Given the description of an element on the screen output the (x, y) to click on. 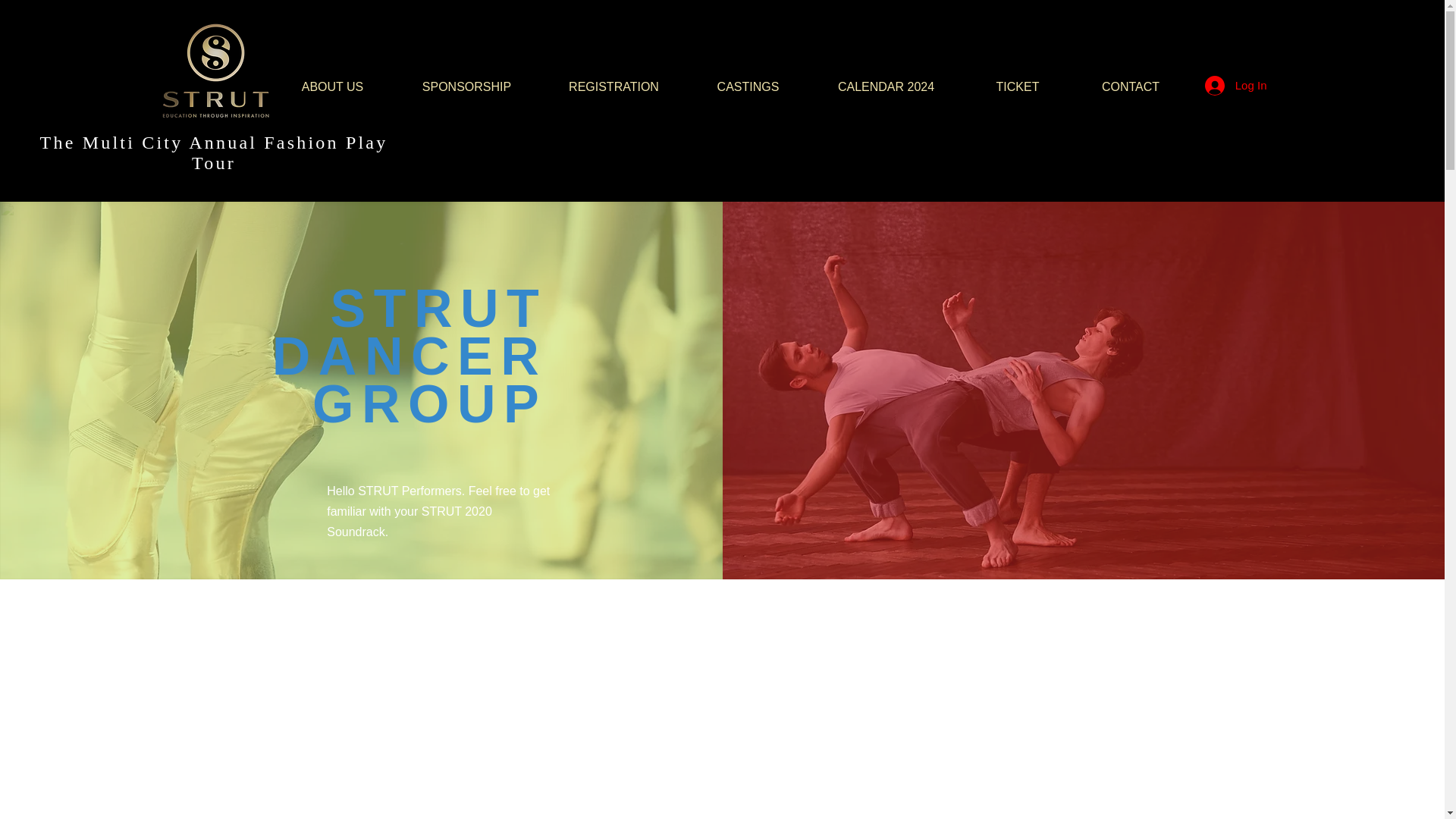
CASTINGS (748, 79)
ABOUT US (332, 79)
SPONSORSHIP (467, 79)
TICKET (1017, 79)
REGISTRATION (614, 79)
Log In (1235, 85)
CONTACT (1129, 79)
CALENDAR 2024 (885, 79)
